Given the description of an element on the screen output the (x, y) to click on. 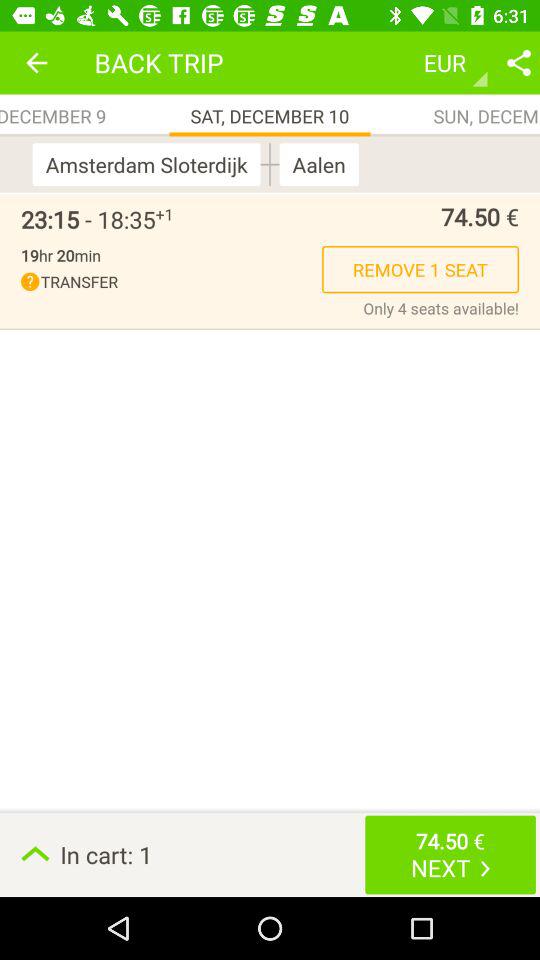
press the item to the right of eur (518, 62)
